Given the description of an element on the screen output the (x, y) to click on. 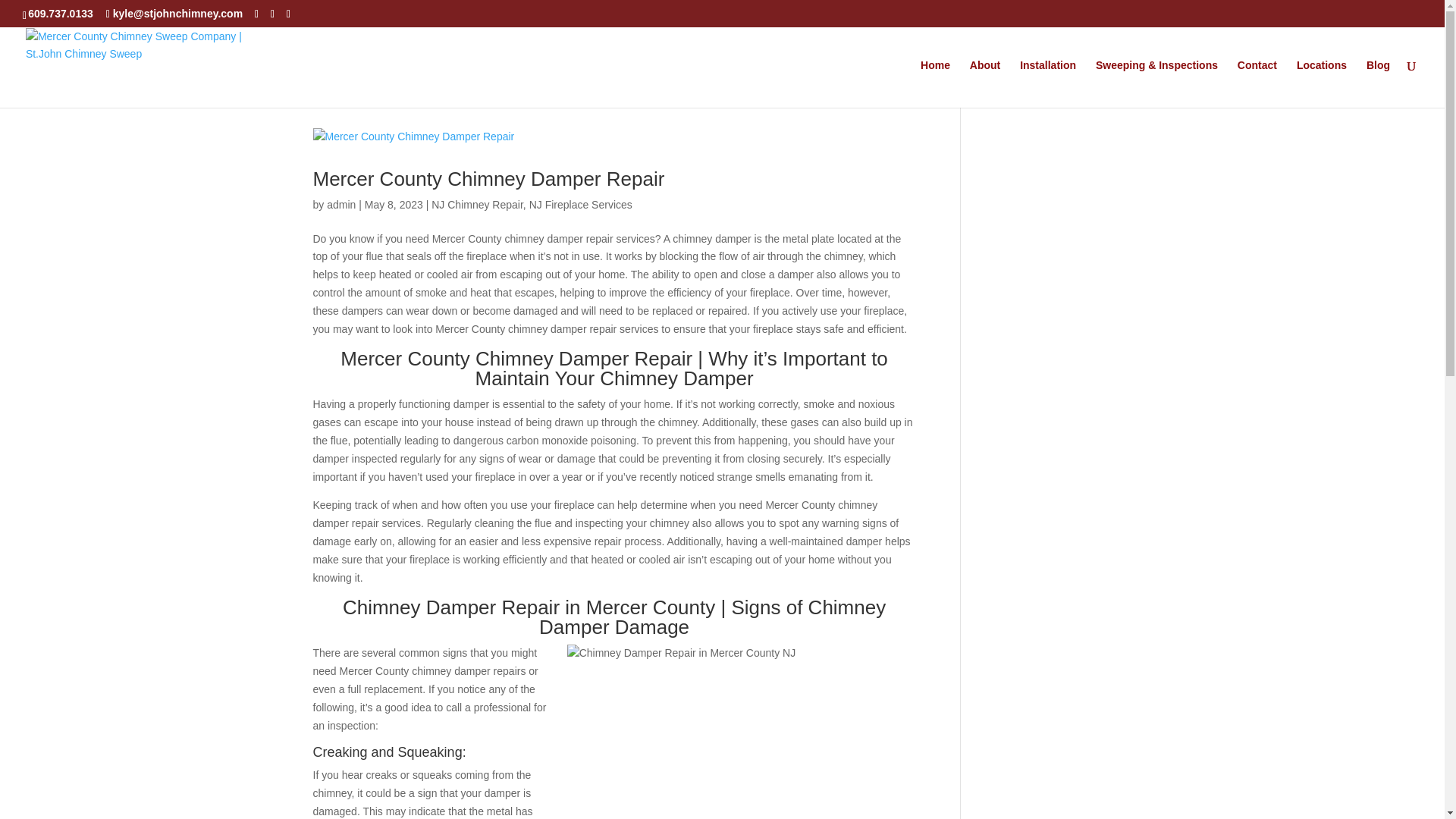
Blog (1378, 83)
Locations (1321, 83)
Mercer County Chimney Damper Repair (488, 178)
Posts by admin (340, 204)
NJ Fireplace Services (580, 204)
NJ Chimney Repair (476, 204)
Home (935, 83)
Contact (1256, 83)
admin (340, 204)
About (984, 83)
Installation (1047, 83)
